Given the description of an element on the screen output the (x, y) to click on. 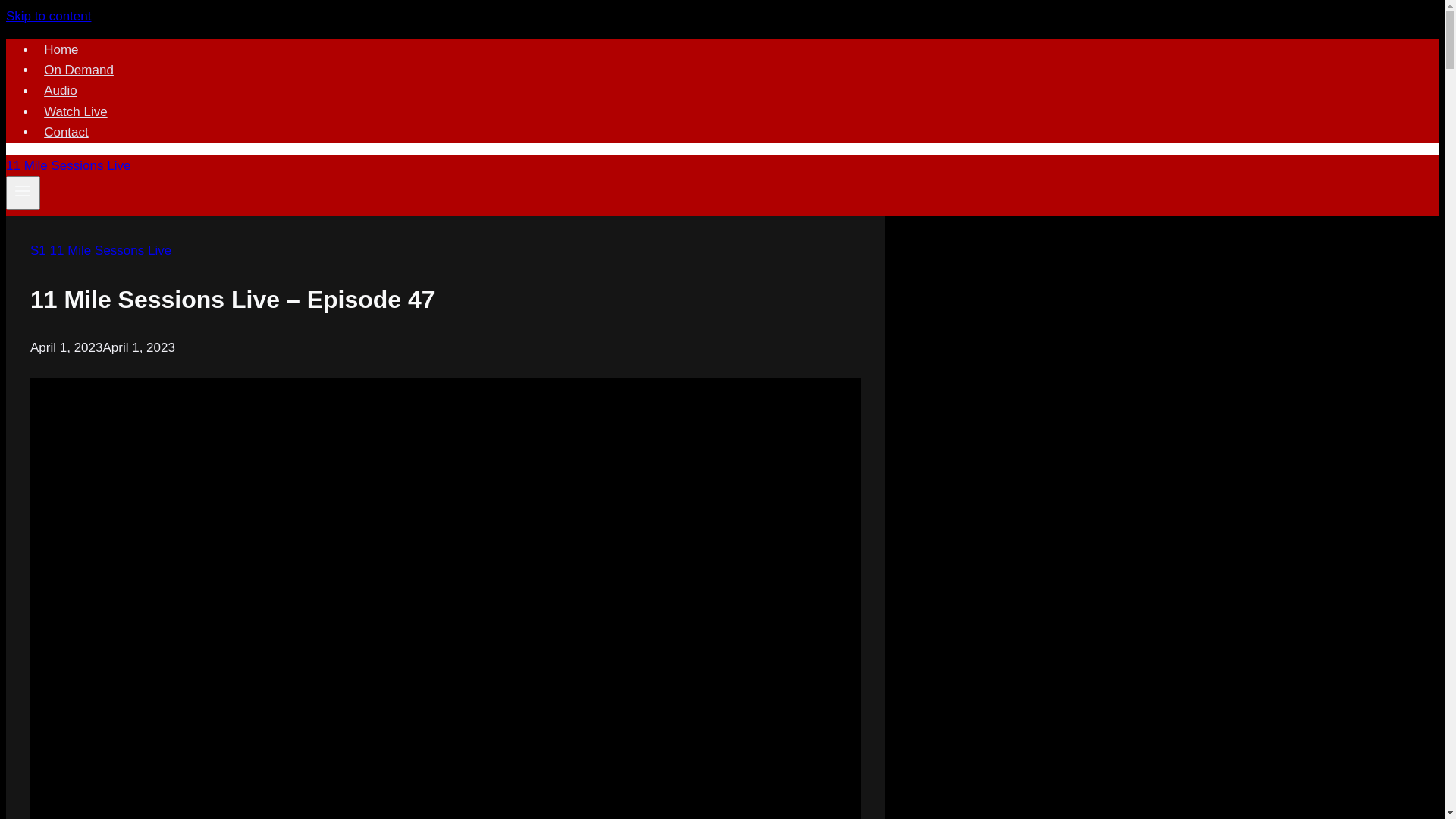
Watch Live Element type: text (75, 111)
On Demand Element type: text (78, 69)
S1 11 Mile Sessons Live Element type: text (100, 250)
Contact Element type: text (66, 132)
Home Element type: text (61, 49)
Toggle Menu Element type: text (23, 192)
Skip to content Element type: text (48, 16)
11 Mile Sessions Live Element type: text (68, 165)
Audio Element type: text (60, 90)
